Given the description of an element on the screen output the (x, y) to click on. 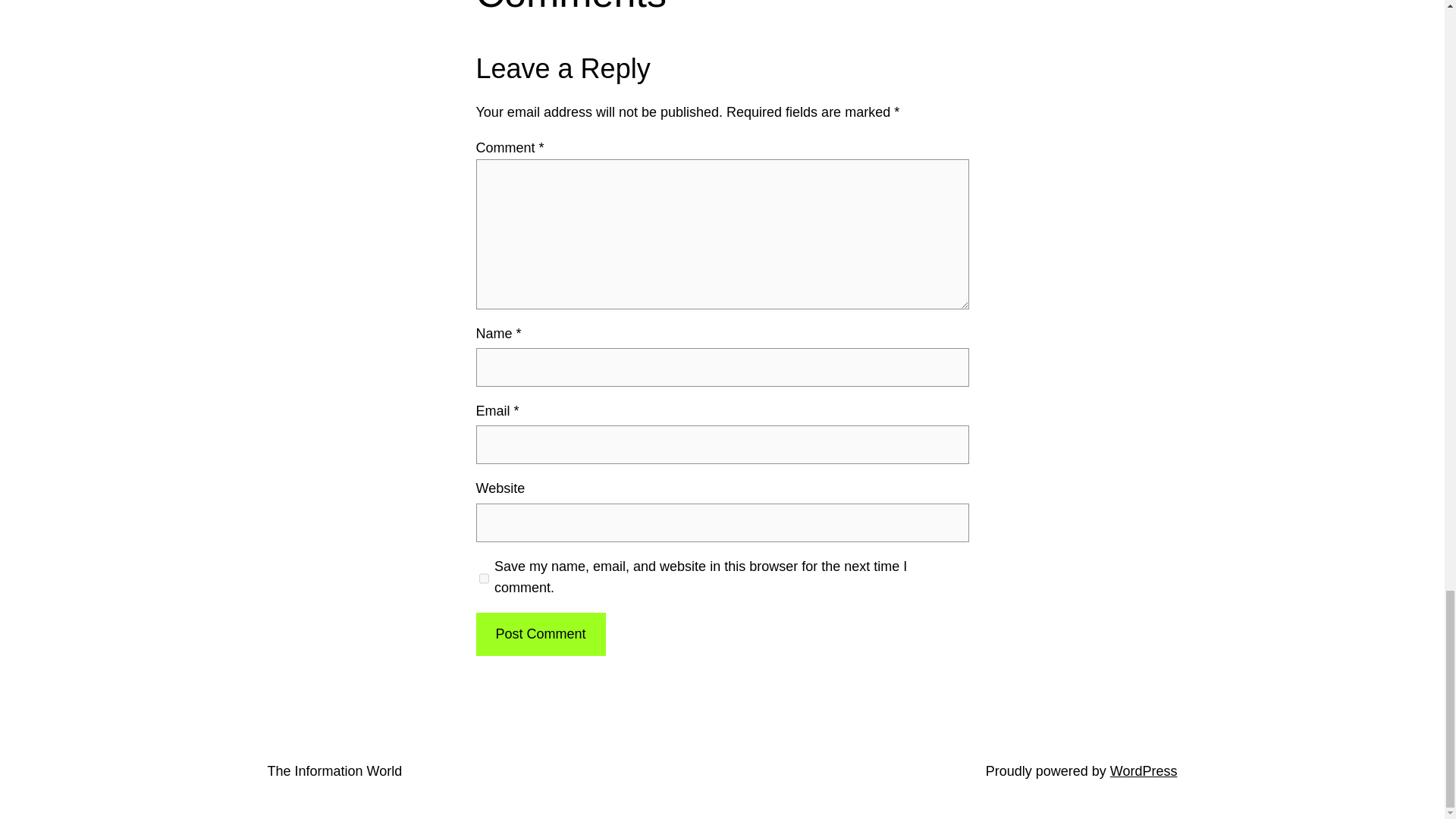
The Information World (333, 770)
Post Comment (540, 634)
Post Comment (540, 634)
WordPress (1143, 770)
